Given the description of an element on the screen output the (x, y) to click on. 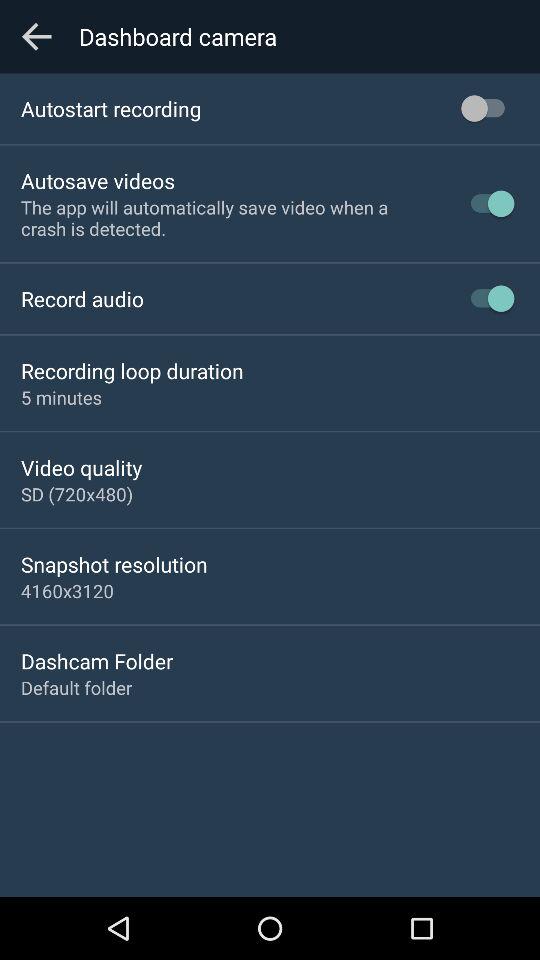
press item below the sd (720x480) icon (114, 564)
